Given the description of an element on the screen output the (x, y) to click on. 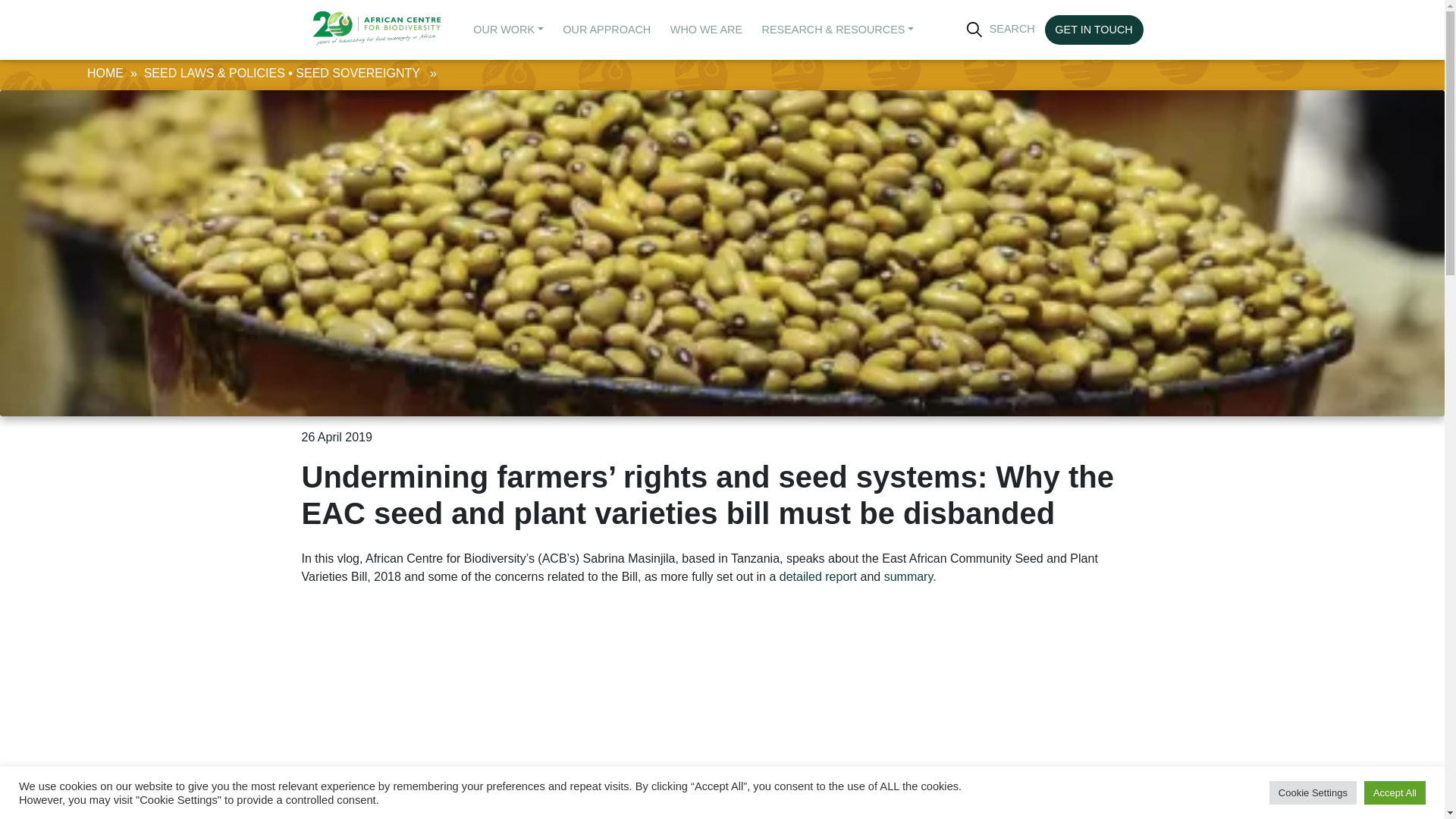
SEARCH (1000, 29)
OUR WORK (508, 30)
GET IN TOUCH (1093, 30)
OUR APPROACH (607, 30)
WHO WE ARE (706, 30)
